Given the description of an element on the screen output the (x, y) to click on. 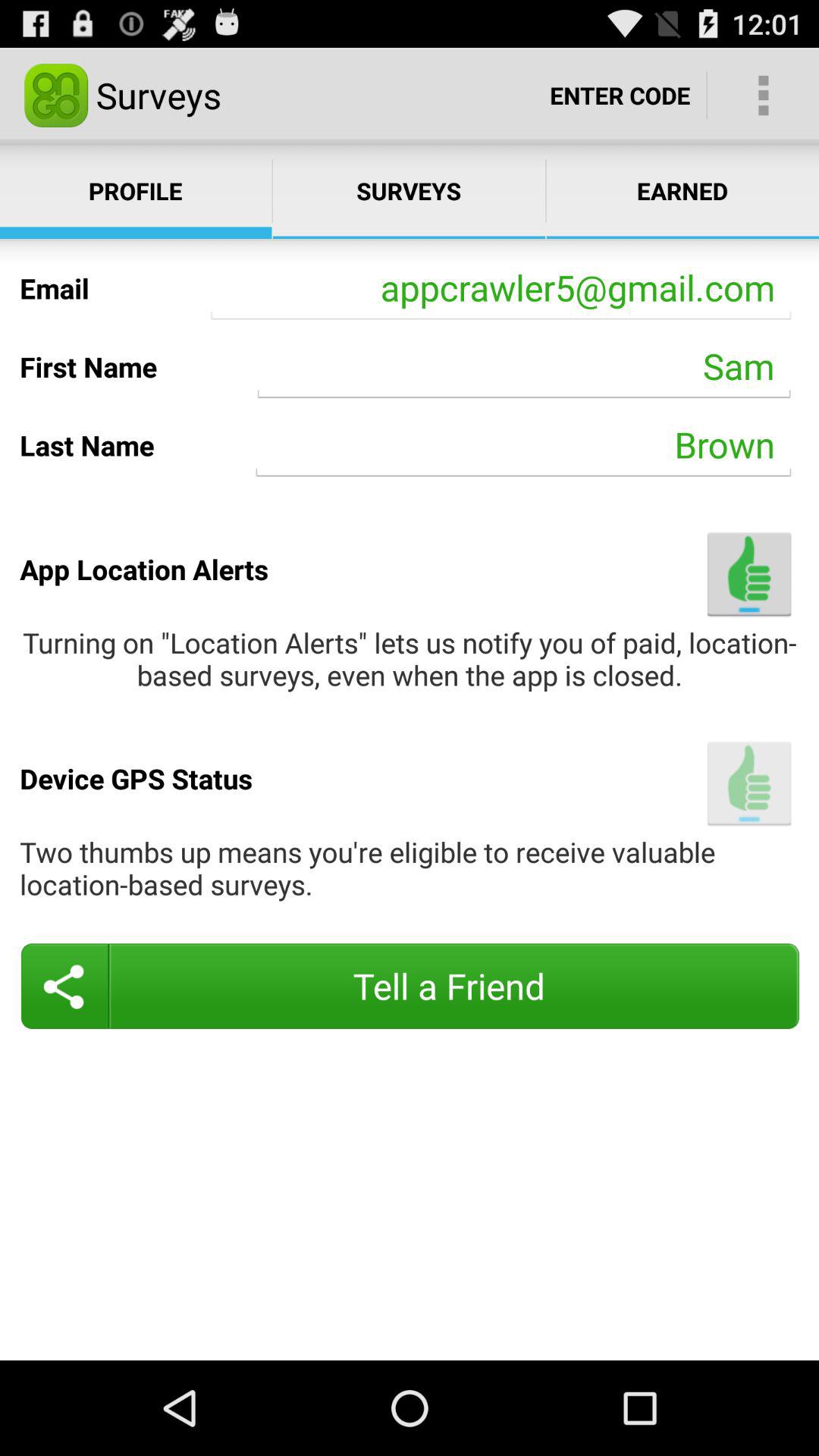
turn off icon next to app location alerts (749, 573)
